Given the description of an element on the screen output the (x, y) to click on. 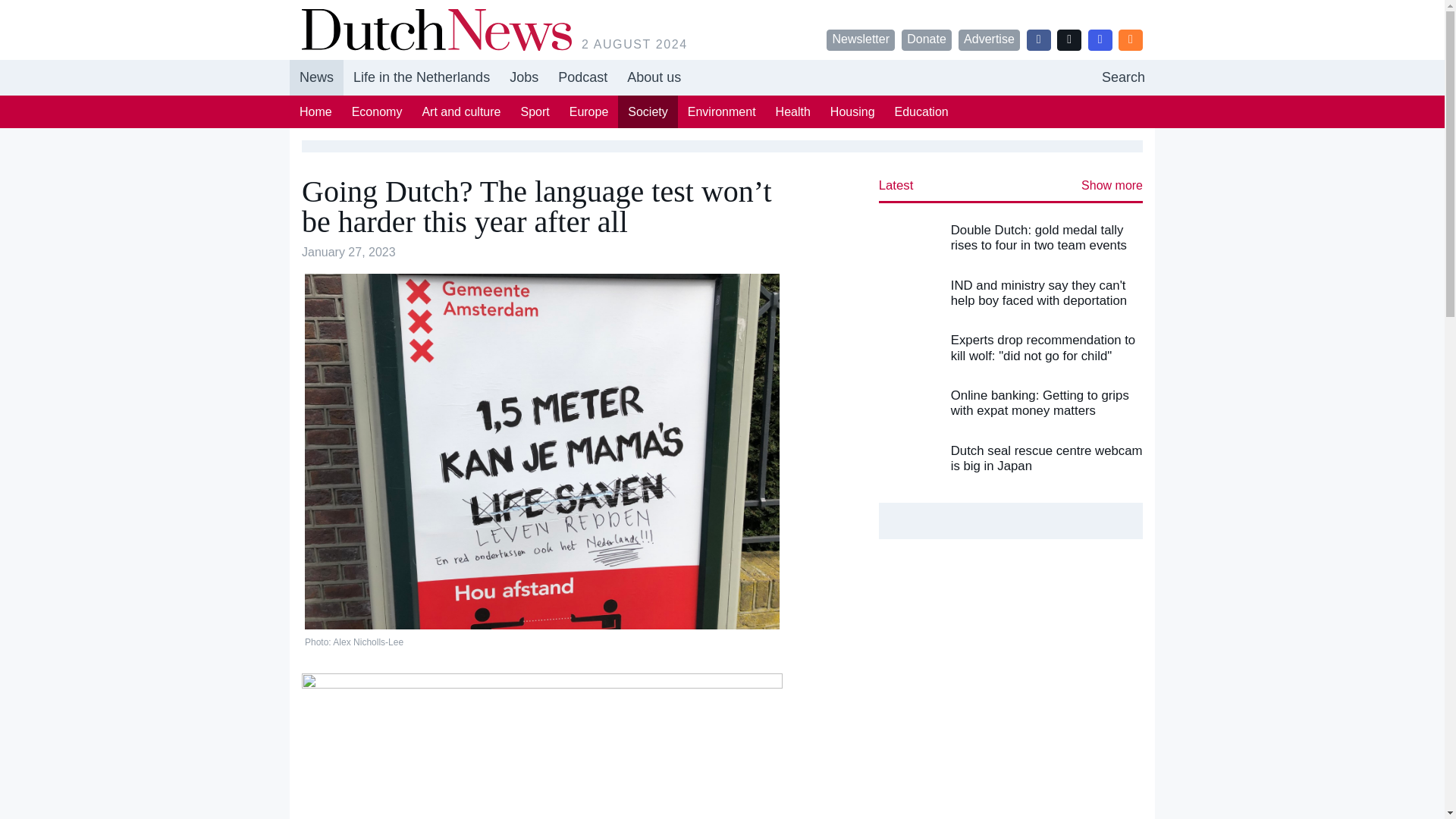
Search (1123, 77)
News (316, 77)
Housing (721, 77)
Jobs (853, 111)
Europe (523, 77)
Education (588, 111)
Society (921, 111)
Art and culture (647, 111)
Podcast (461, 111)
